Given the description of an element on the screen output the (x, y) to click on. 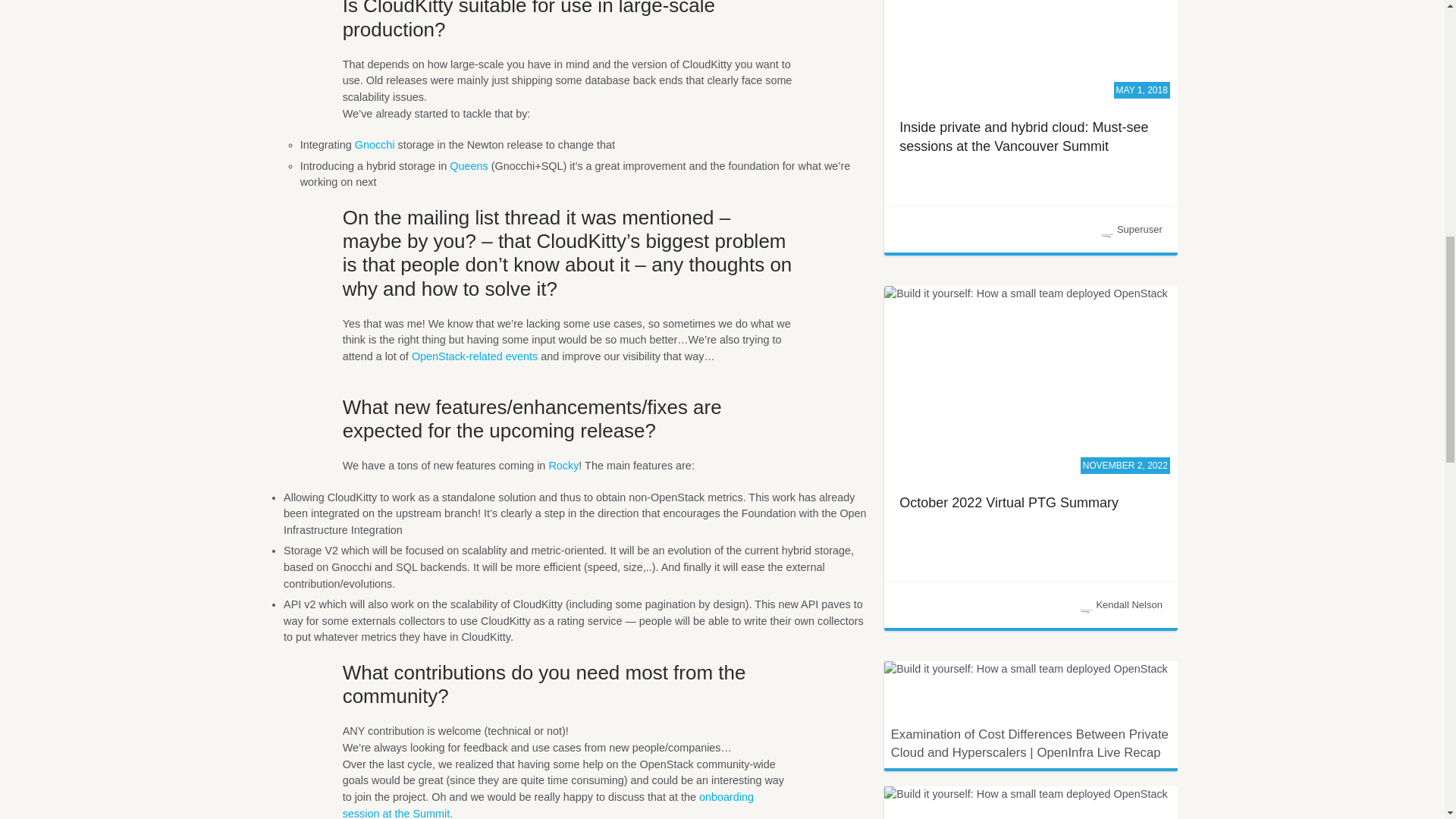
Queens (468, 165)
OpenStack-related events (474, 356)
Gnocchi (374, 144)
Rocky (563, 465)
onboarding session at the Summit. (548, 805)
